Given the description of an element on the screen output the (x, y) to click on. 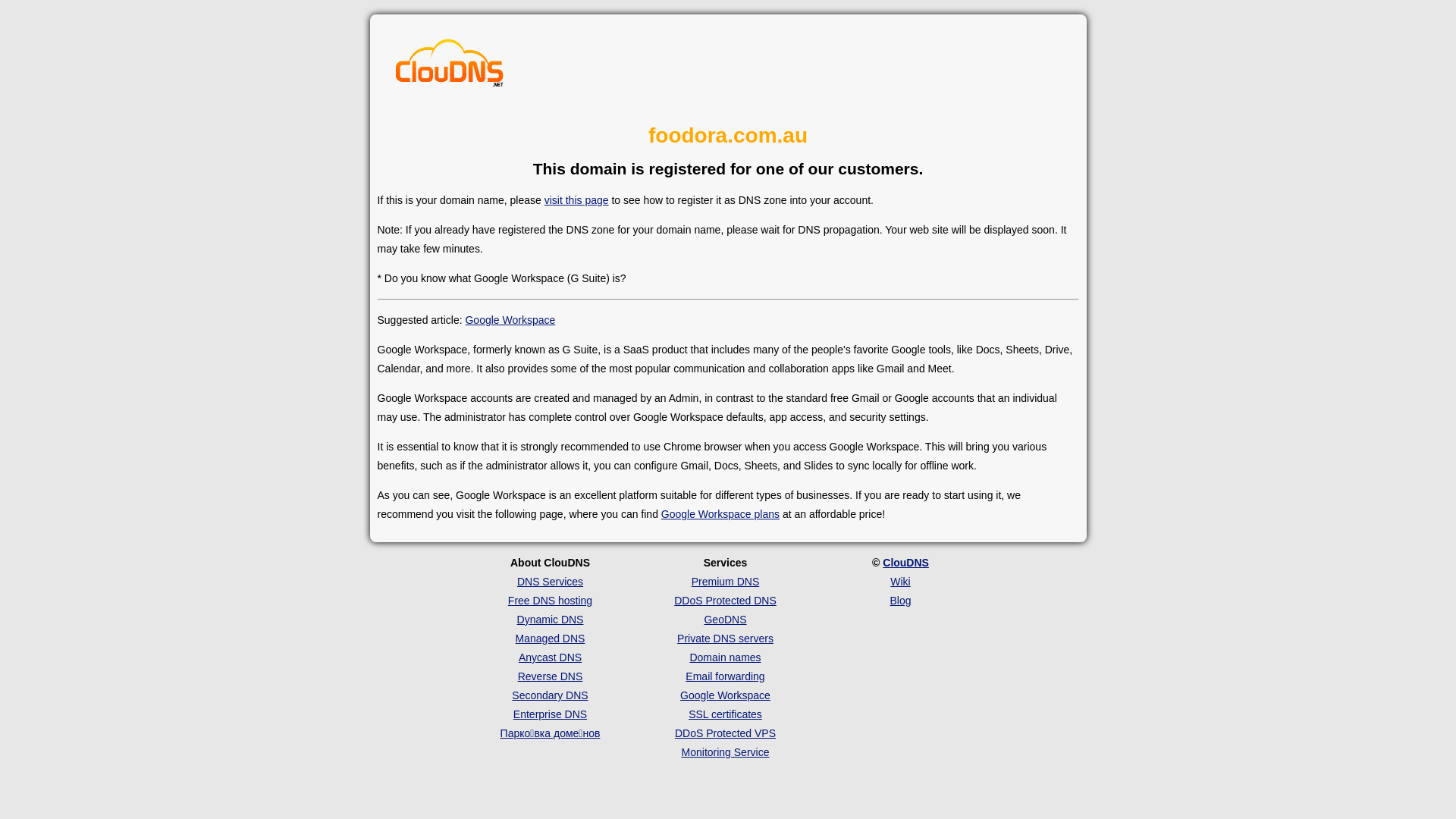
Secondary DNS Element type: text (549, 695)
Reverse DNS Element type: text (550, 676)
Monitoring Service Element type: text (725, 752)
GeoDNS Element type: text (724, 619)
Private DNS servers Element type: text (725, 638)
Domain names Element type: text (724, 657)
Google Workspace plans Element type: text (720, 514)
DNS Services Element type: text (550, 581)
visit this page Element type: text (576, 200)
DDoS Protected VPS Element type: text (724, 733)
Google Workspace Element type: text (725, 695)
Dynamic DNS Element type: text (550, 619)
Managed DNS Element type: text (550, 638)
Anycast DNS Element type: text (549, 657)
Google Workspace Element type: text (509, 319)
DDoS Protected DNS Element type: text (725, 600)
Free DNS hosting Element type: text (550, 600)
Premium DNS Element type: text (725, 581)
Blog Element type: text (899, 600)
SSL certificates Element type: text (725, 714)
ClouDNS Element type: text (905, 562)
Cloud DNS Element type: hover (449, 66)
Email forwarding Element type: text (724, 676)
Wiki Element type: text (900, 581)
Enterprise DNS Element type: text (549, 714)
